Given the description of an element on the screen output the (x, y) to click on. 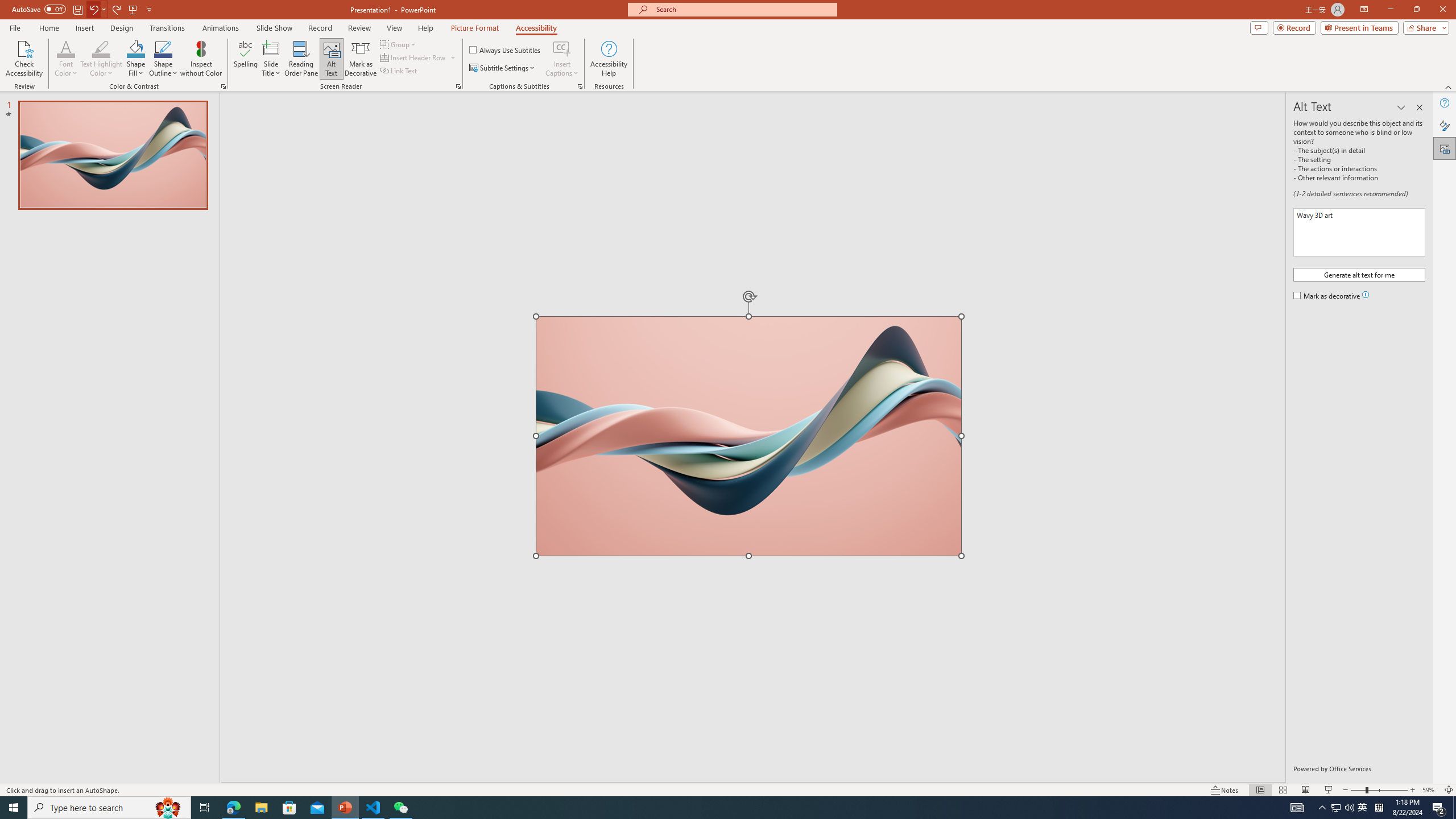
Captions & Subtitles (580, 85)
Reading Order Pane (301, 58)
Wavy 3D art (747, 435)
Picture Format (475, 28)
